Given the description of an element on the screen output the (x, y) to click on. 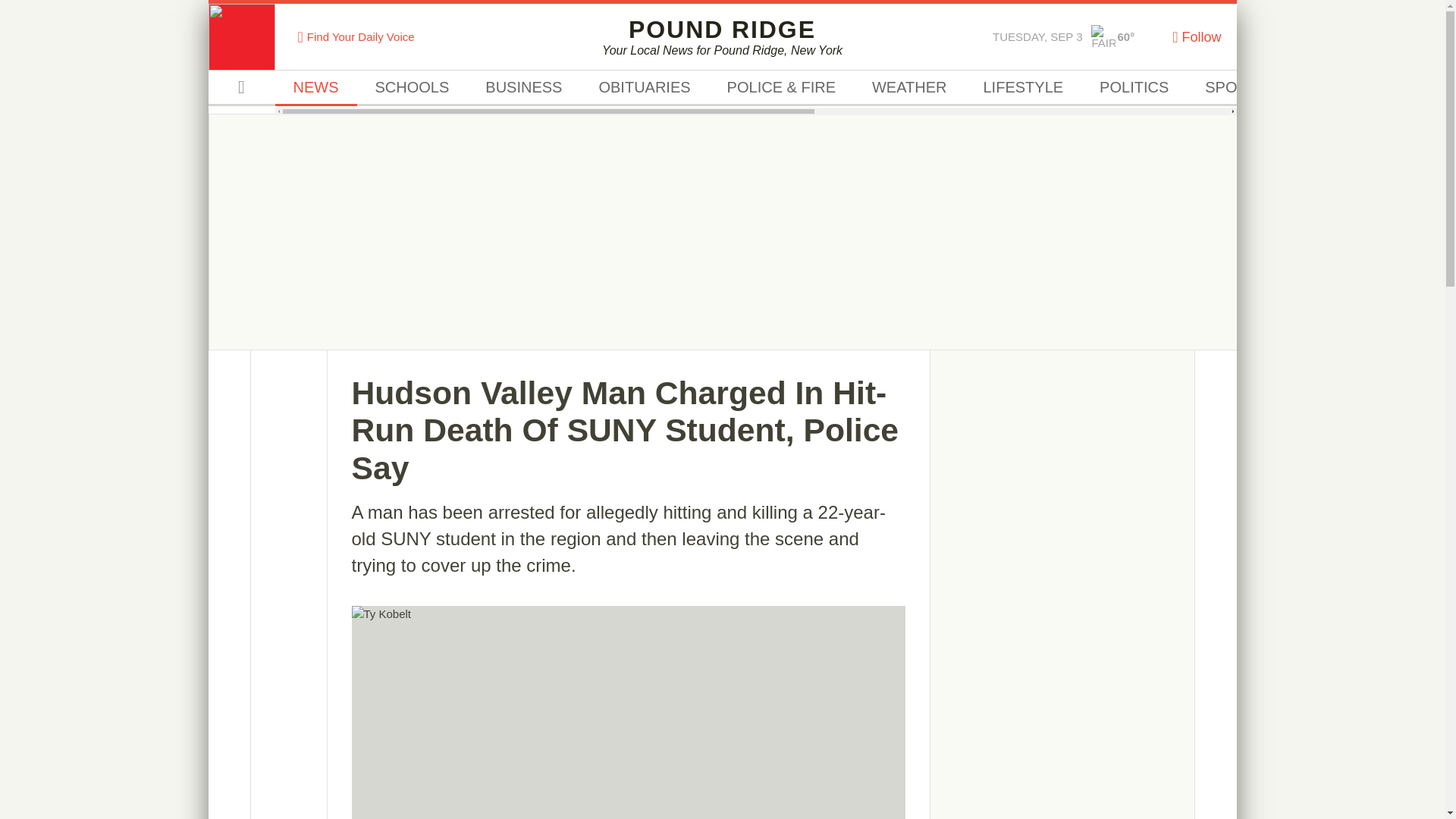
EVENTS (1333, 88)
SCHOOLS (411, 88)
WEATHER (722, 36)
POLITICS (909, 88)
LIFESTYLE (1133, 88)
BUSINESS (1022, 88)
SPORTS (523, 88)
Fair (1235, 88)
NEWS (1102, 36)
